Given the description of an element on the screen output the (x, y) to click on. 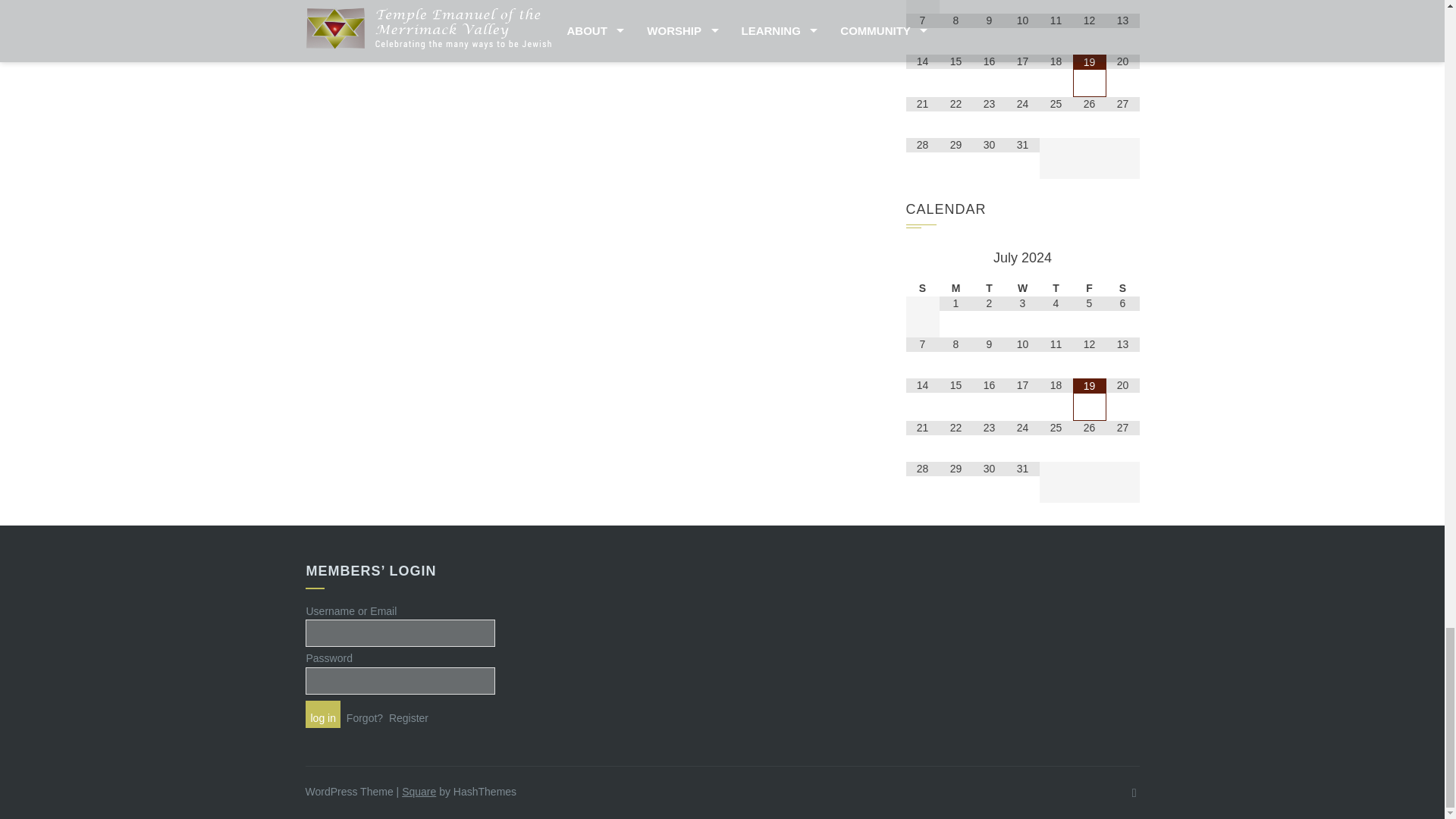
log in (322, 714)
Previous Month (922, 257)
Next Month (1121, 257)
